Given the description of an element on the screen output the (x, y) to click on. 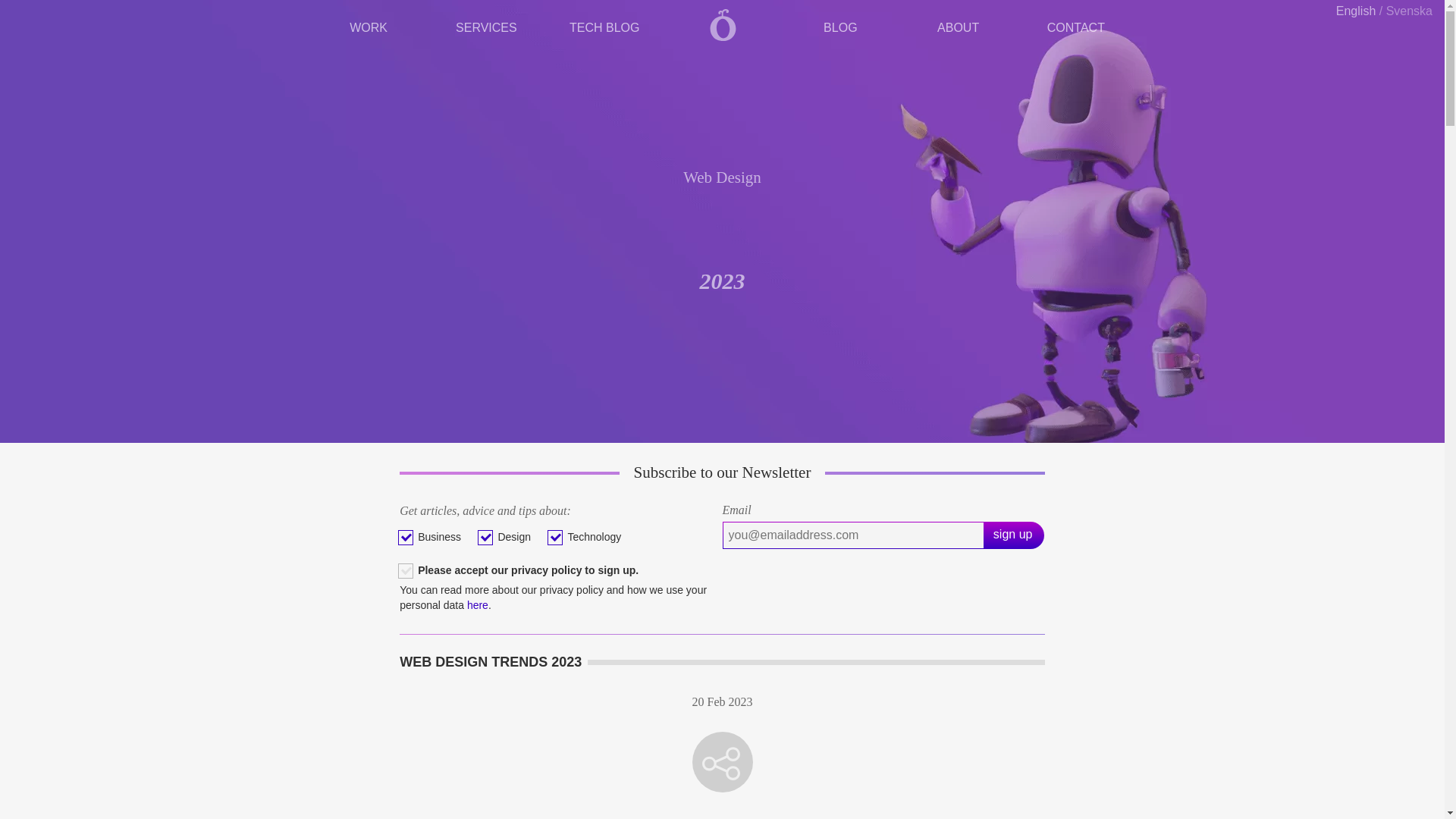
here (477, 604)
Icon (722, 764)
ABOUT (957, 24)
Svenska (1409, 10)
Icon (722, 764)
Icon (722, 760)
SERVICES (485, 24)
Icon (721, 762)
sign up (1014, 534)
WORK (368, 24)
